Given the description of an element on the screen output the (x, y) to click on. 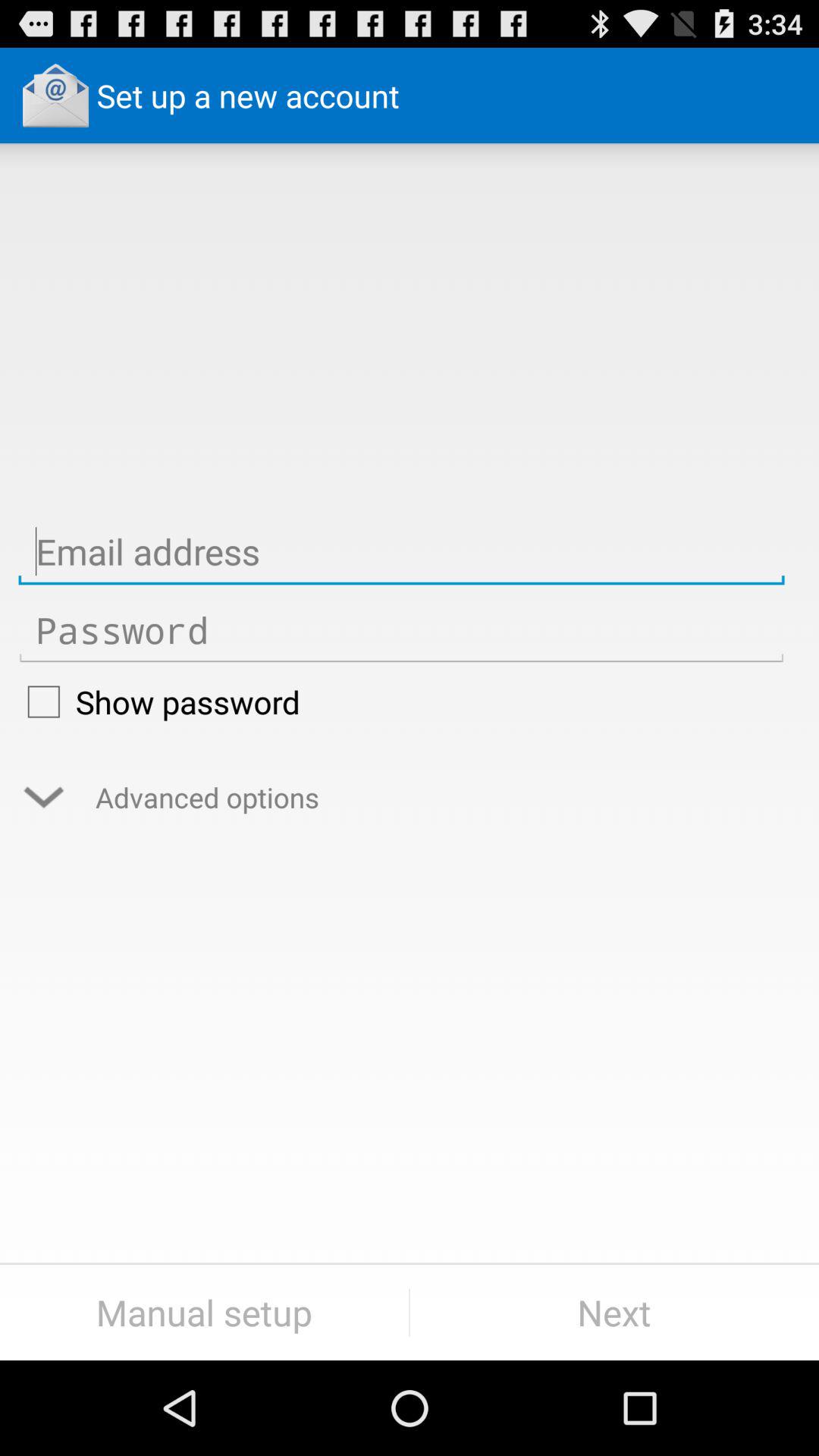
launch button at the bottom right corner (614, 1312)
